Given the description of an element on the screen output the (x, y) to click on. 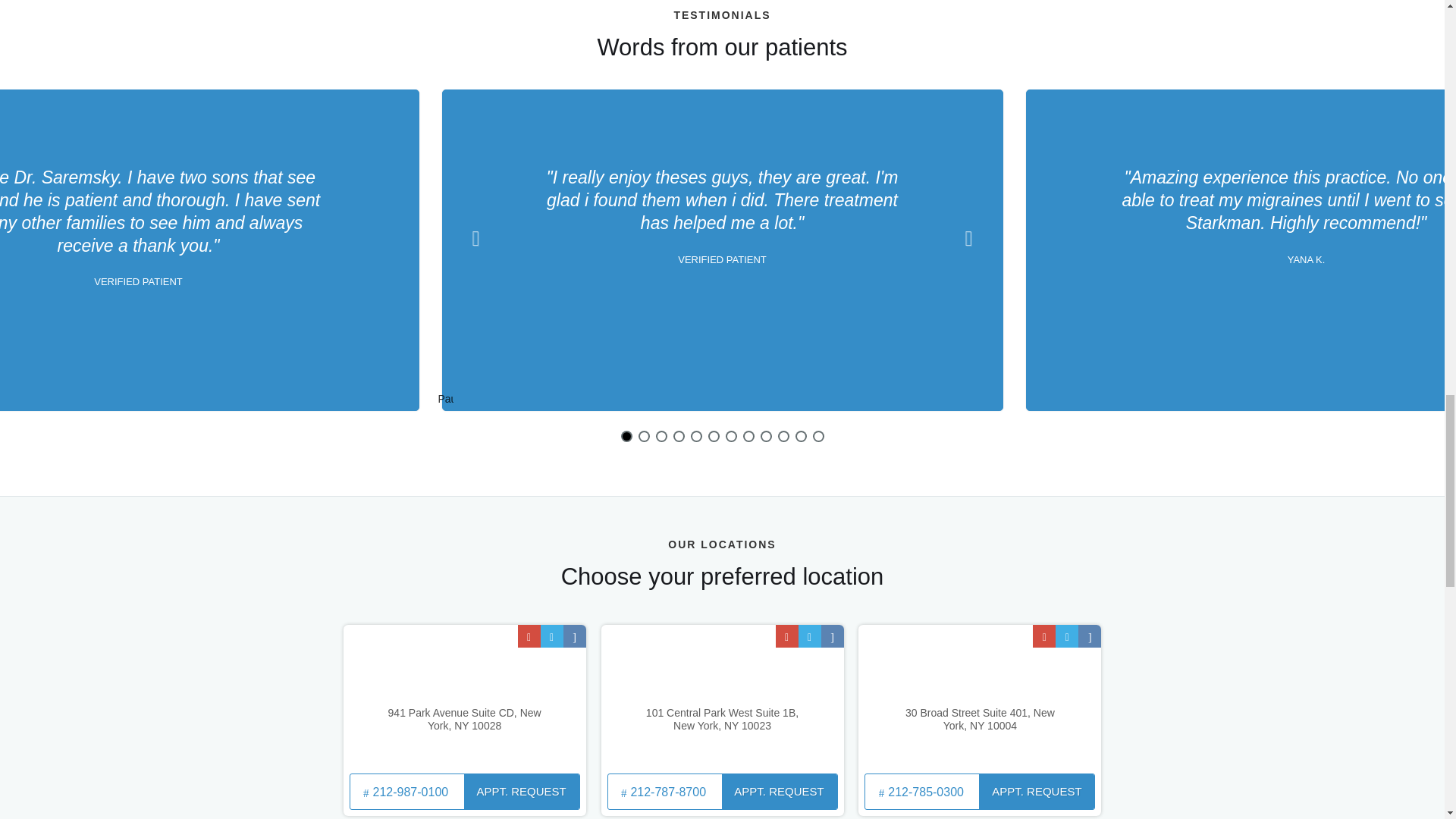
5 (695, 436)
Map of Upper East Side (464, 696)
4 (678, 436)
1 (625, 436)
Map of Downtown (979, 696)
Map of Upper West Side Location (721, 696)
3 (660, 436)
2 (643, 436)
